Given the description of an element on the screen output the (x, y) to click on. 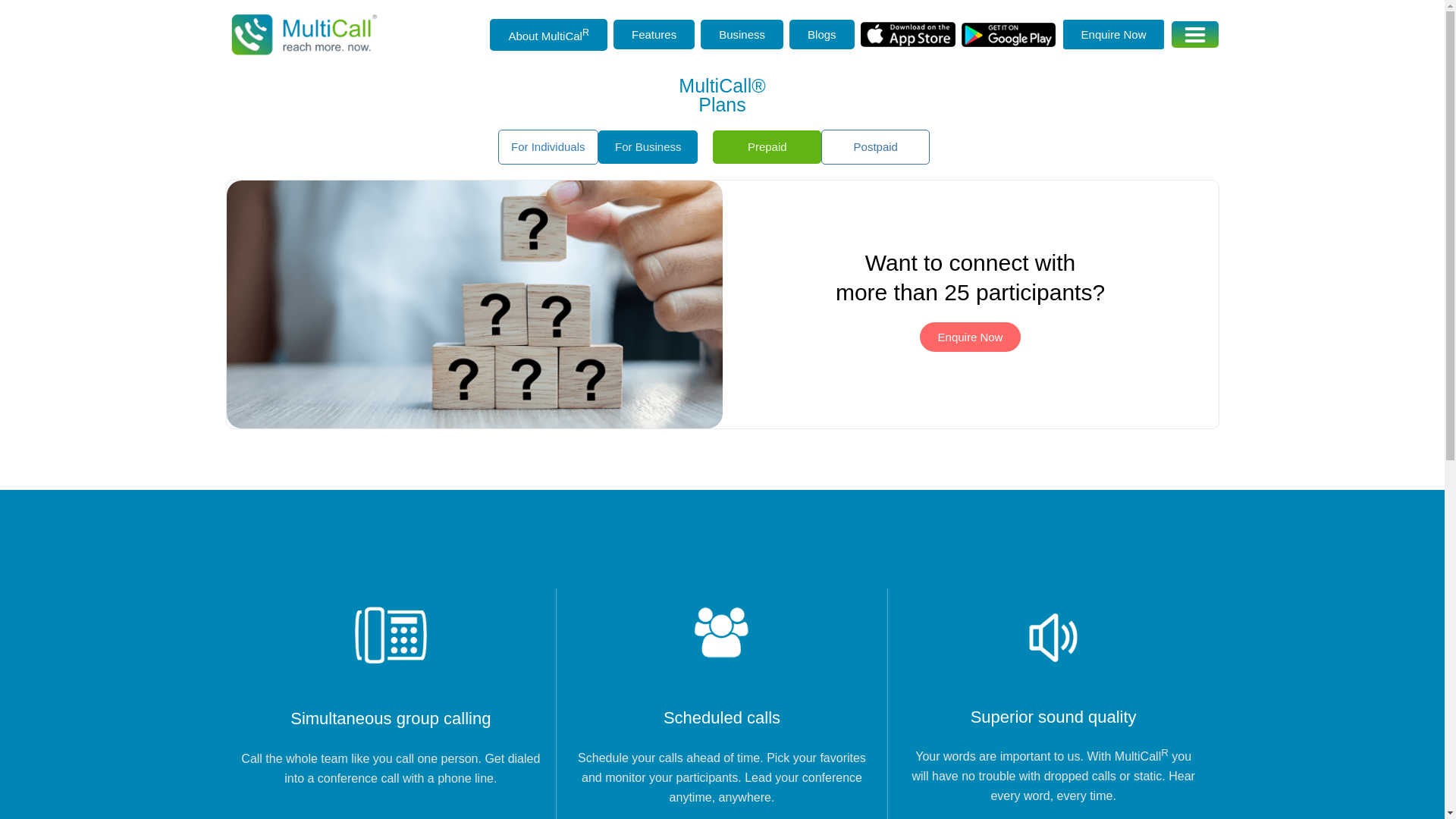
Enquire Now (1113, 34)
Features (653, 34)
Blogs (821, 34)
About MultiCalR (548, 34)
Business (741, 34)
